Given the description of an element on the screen output the (x, y) to click on. 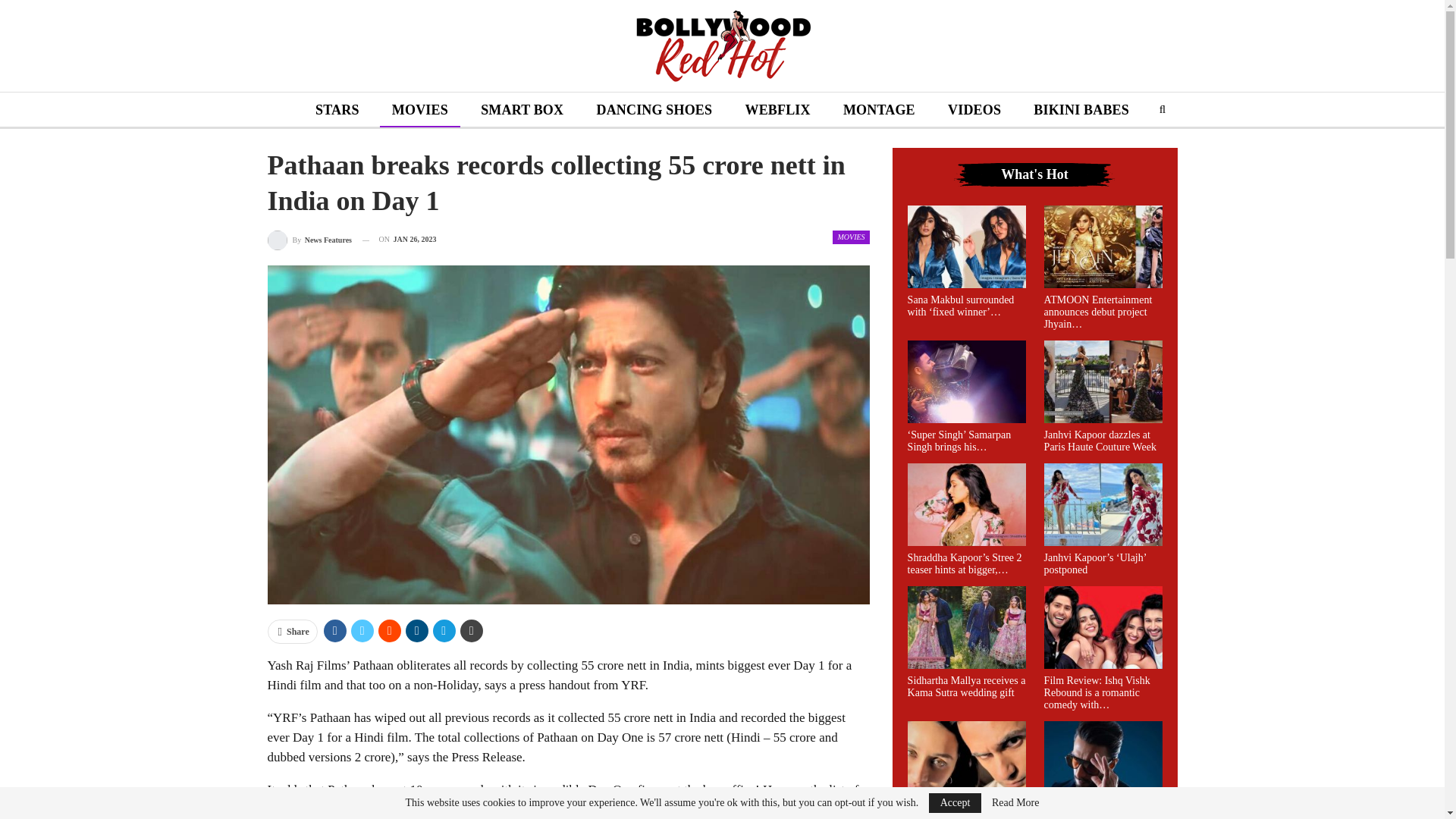
MOVIES (850, 237)
MOVIES (420, 110)
MONTAGE (879, 110)
Browse Author Articles (308, 240)
SMART BOX (521, 110)
WEBFLIX (777, 110)
VIDEOS (974, 110)
DANCING SHOES (653, 110)
BIKINI BABES (1081, 110)
By News Features (308, 240)
